Given the description of an element on the screen output the (x, y) to click on. 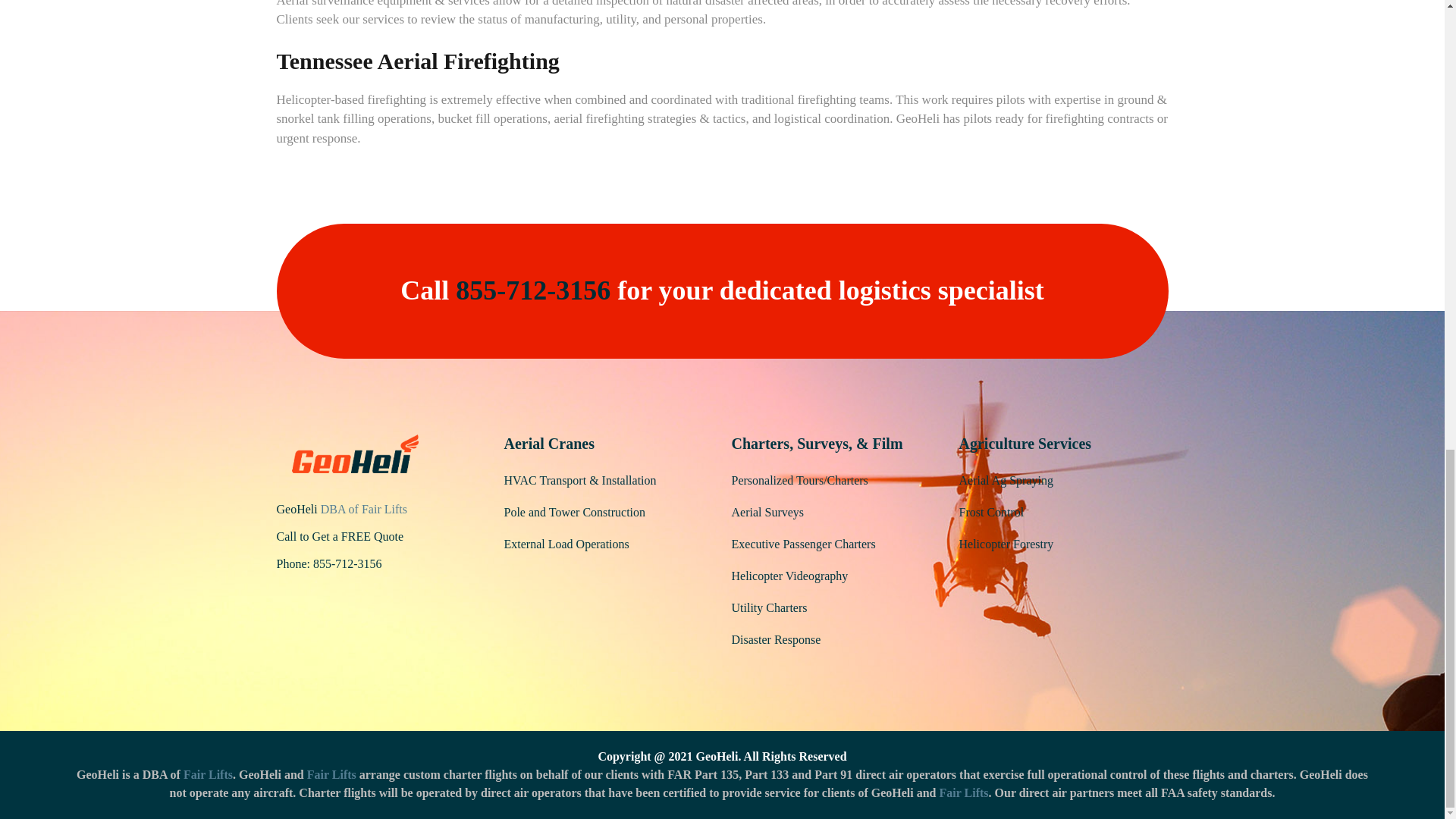
Pole and Tower Construction (574, 512)
DBA of Fair Lifts (363, 508)
